Given the description of an element on the screen output the (x, y) to click on. 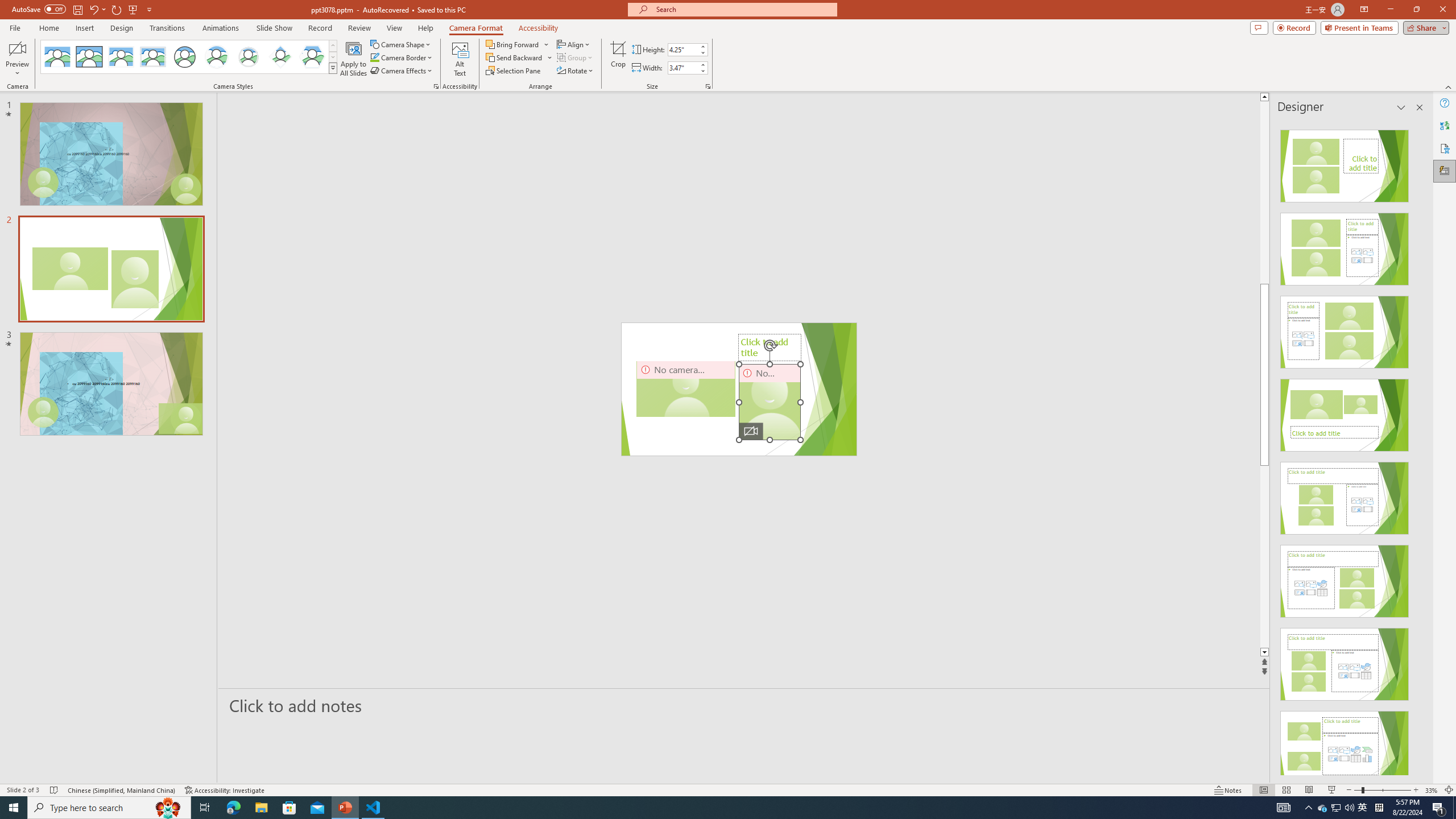
Soft Edge Circle (248, 56)
Rotate (575, 69)
Simple Frame Rectangle (88, 56)
Send Backward (514, 56)
Bring Forward (517, 44)
